Given the description of an element on the screen output the (x, y) to click on. 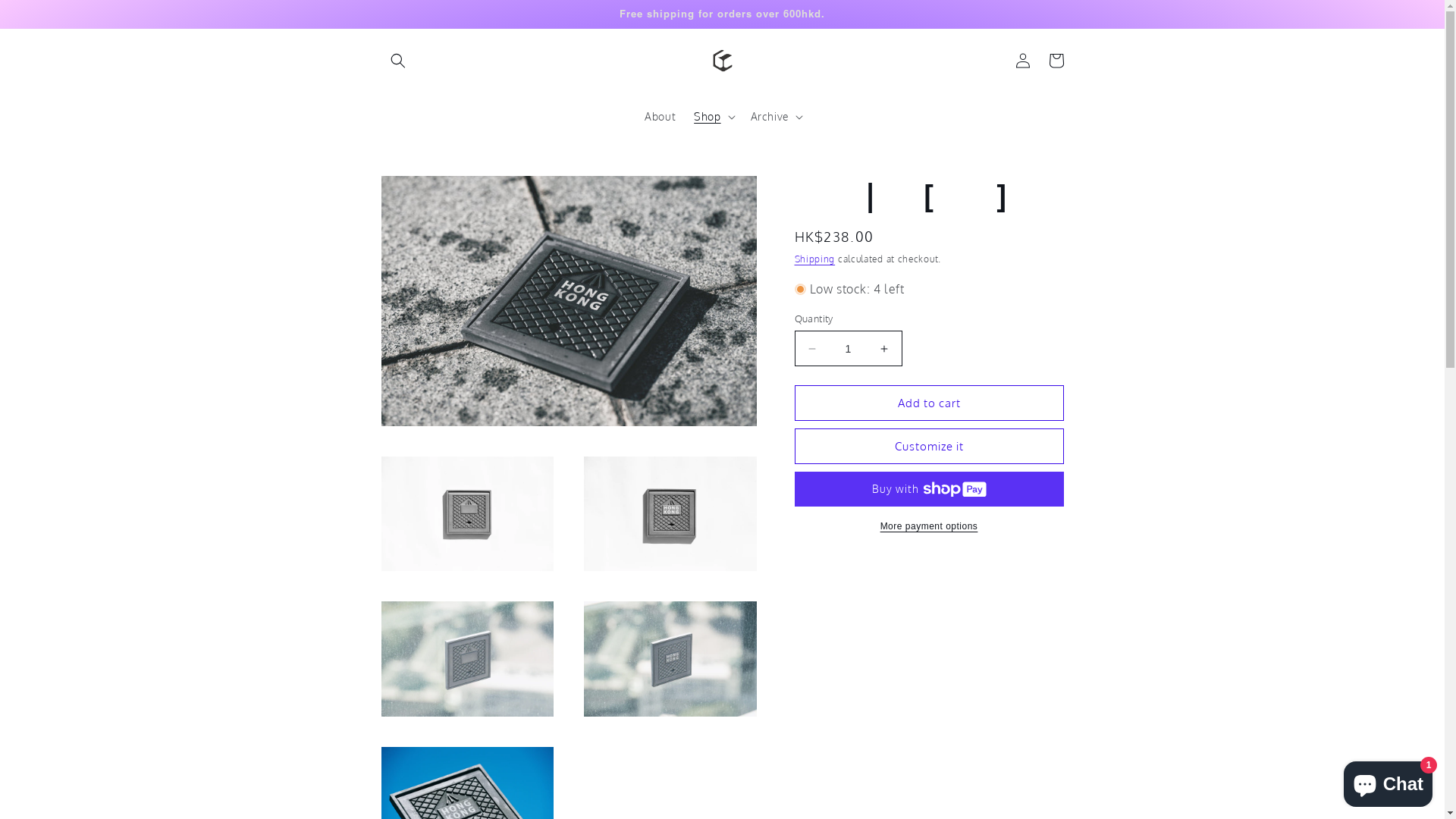
Log in Element type: text (1021, 60)
Shopify online store chat Element type: hover (1388, 780)
Shipping Element type: text (814, 258)
Cart Element type: text (1055, 60)
Customize it Element type: text (928, 446)
Skip to product information Element type: text (426, 192)
More payment options Element type: text (928, 525)
Add to cart Element type: text (928, 402)
About Element type: text (659, 116)
